Given the description of an element on the screen output the (x, y) to click on. 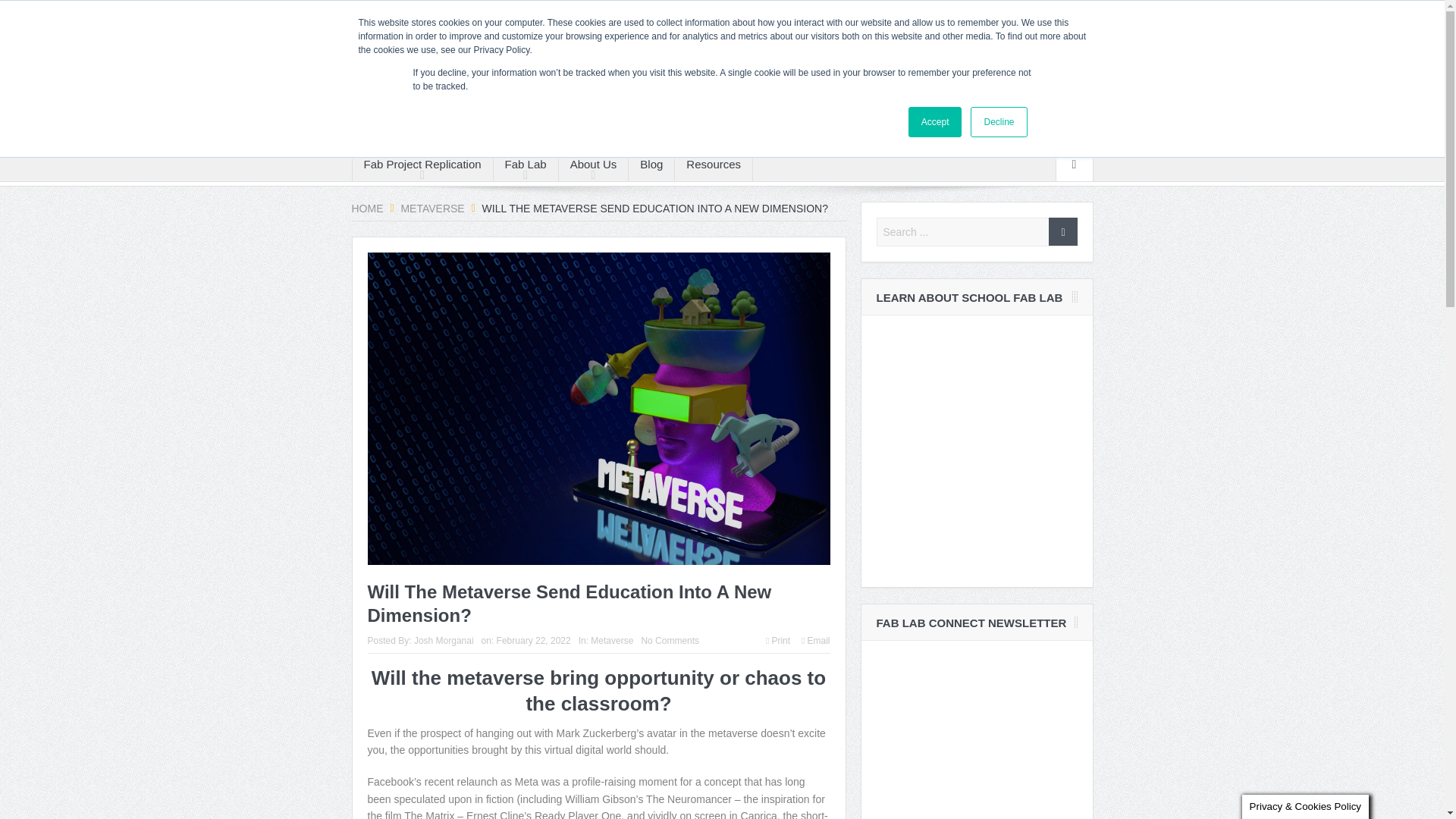
Form 0 (976, 450)
Fab Lab (525, 164)
Home (373, 15)
About Us (593, 164)
Accept (935, 122)
Fab Project Replication (422, 164)
Apply Now (427, 15)
Newsletter Sign Up (514, 15)
Form 1 (976, 737)
Resources (713, 164)
Blog (651, 164)
View all posts in Metaverse (612, 640)
Metaverse (432, 208)
Decline (998, 122)
